Given the description of an element on the screen output the (x, y) to click on. 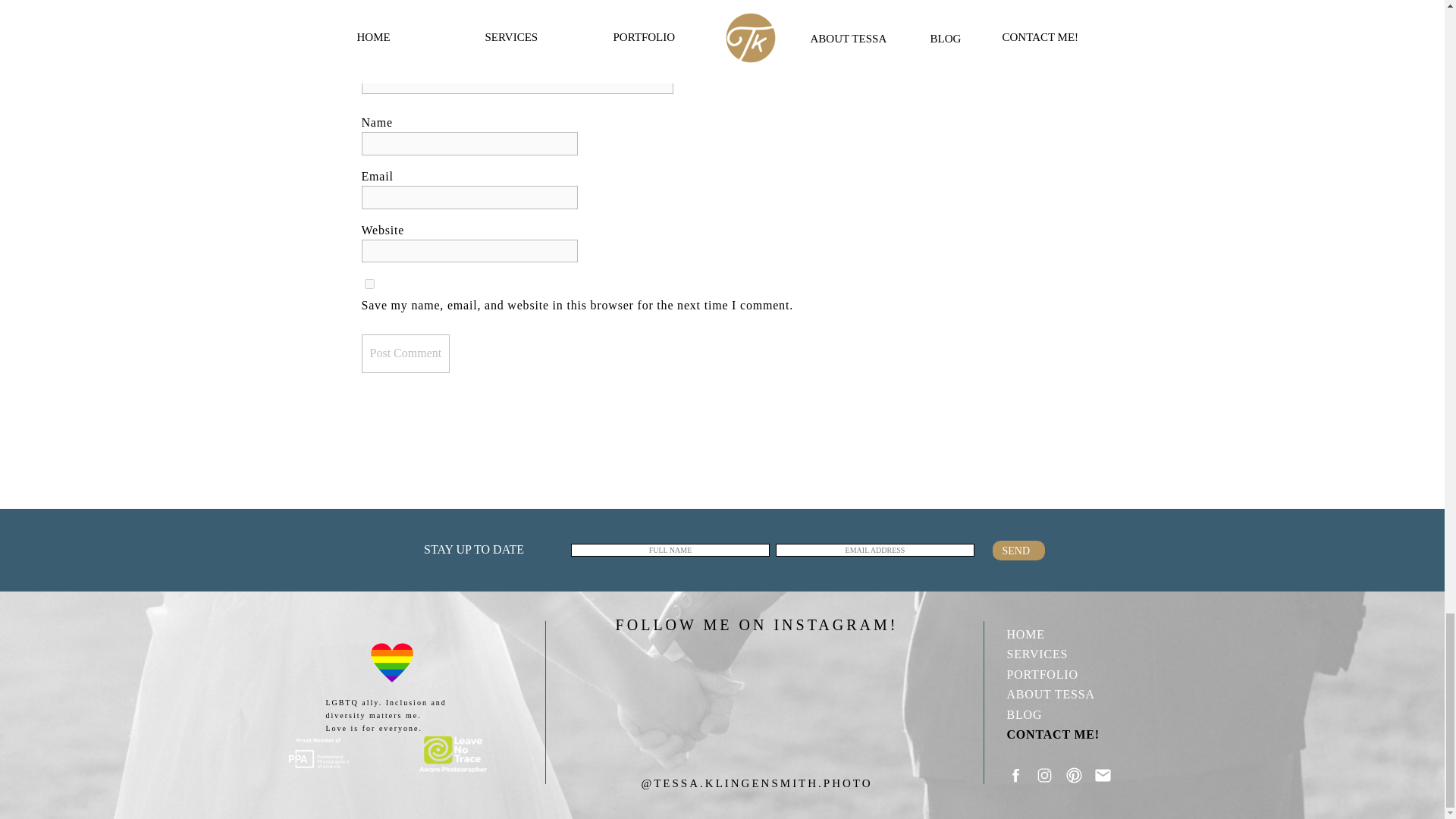
Post Comment (405, 353)
Post Comment (405, 353)
SEND (1019, 550)
ABOUT TESSA (1064, 692)
HOME (1064, 633)
yes (369, 284)
BLOG (1064, 713)
SERVICES (1064, 652)
CONTACT ME! (1064, 732)
FOLLOW ME ON INSTAGRAM! (756, 620)
PORTFOLIO (1064, 673)
